Given the description of an element on the screen output the (x, y) to click on. 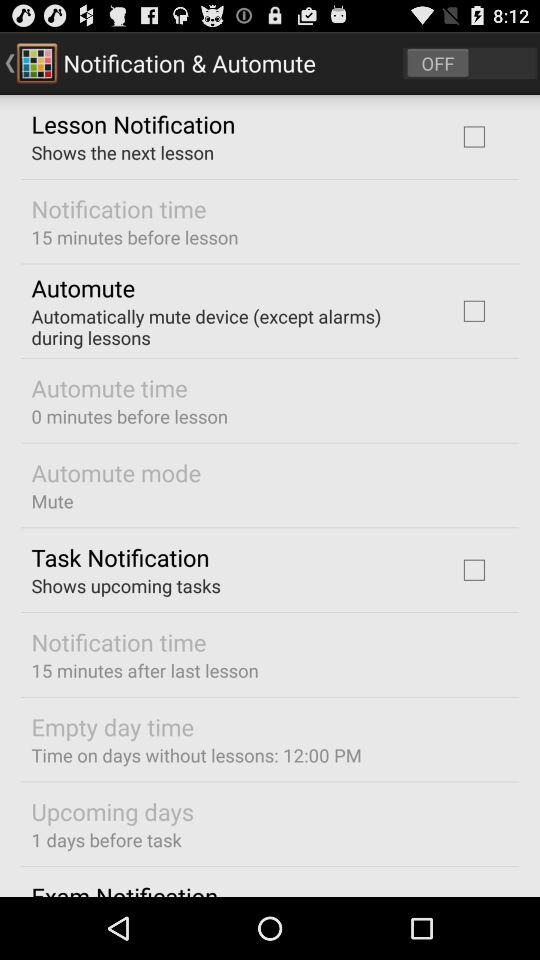
on off switch (470, 62)
